Given the description of an element on the screen output the (x, y) to click on. 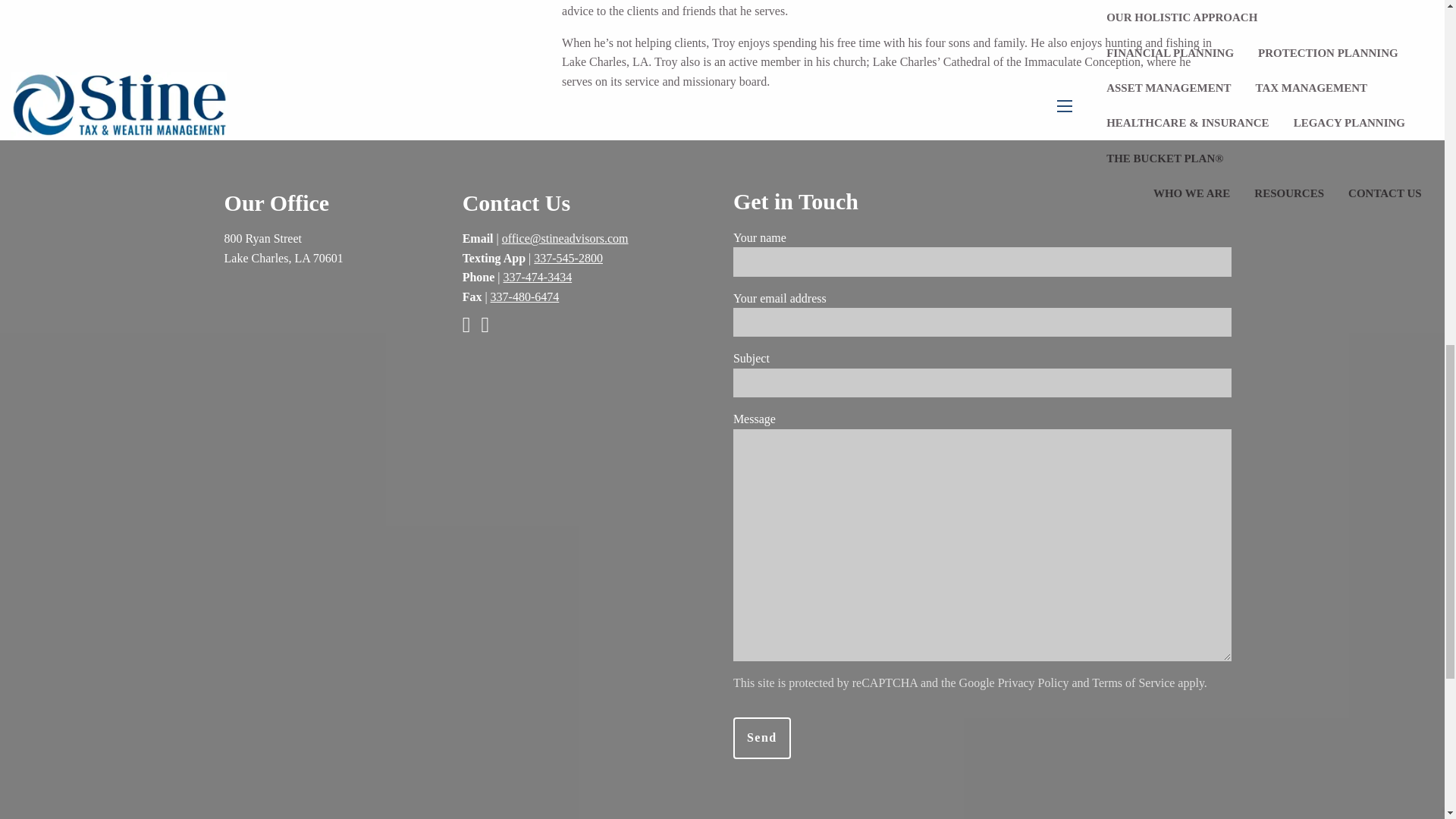
Fax Us (524, 296)
Call Us (537, 277)
337-474-3434 (537, 277)
Terms of Service (1133, 682)
Send (761, 738)
337-545-2800 (568, 257)
Text Us (568, 257)
Send (761, 738)
